Given the description of an element on the screen output the (x, y) to click on. 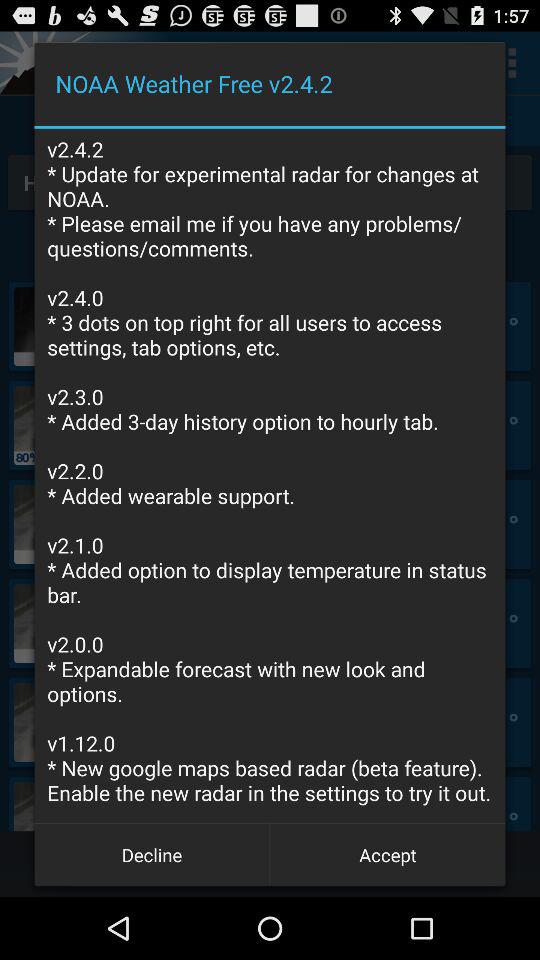
press the item below v2 4 2 app (387, 854)
